Given the description of an element on the screen output the (x, y) to click on. 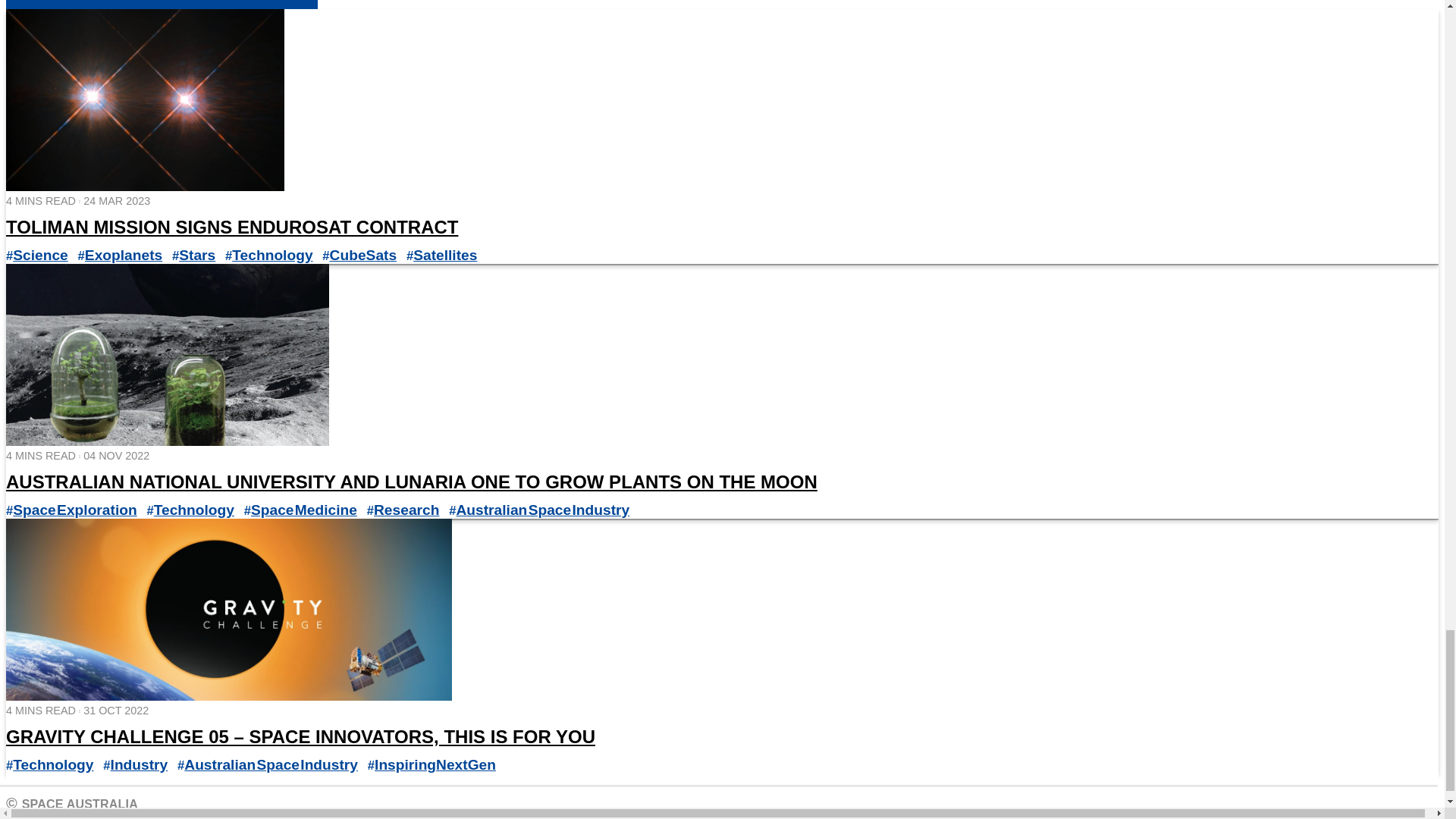
Exoplanets (122, 254)
Science (40, 254)
TOLIMAN MISSION SIGNS ENDUROSAT CONTRACT (231, 227)
